Given the description of an element on the screen output the (x, y) to click on. 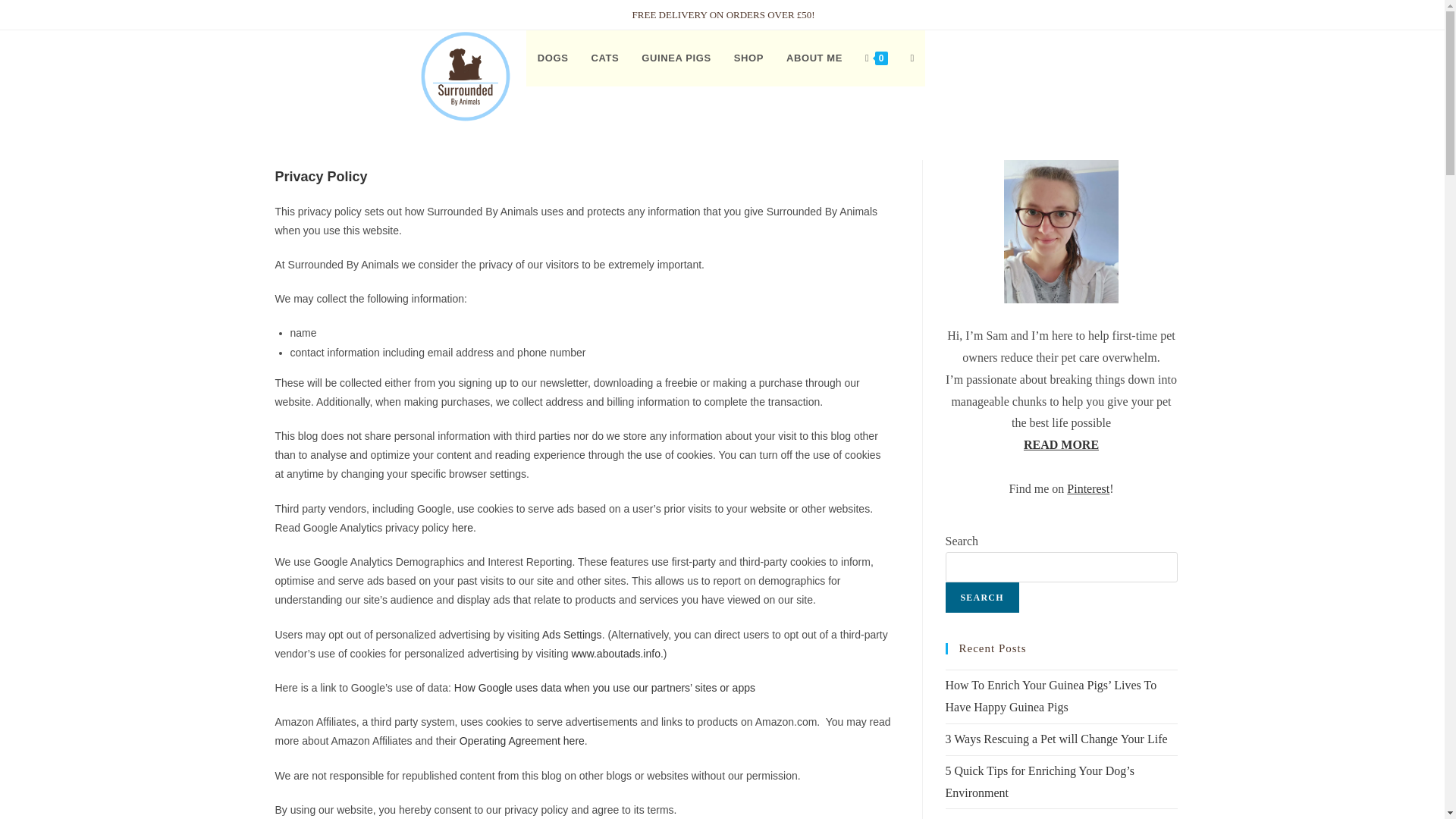
Operating Agreement here (522, 740)
SHOP (748, 58)
DOGS (552, 58)
3 Ways Rescuing a Pet will Change Your Life (1055, 738)
Ads Settings (571, 634)
Pinterest (1088, 488)
CATS (604, 58)
GUINEA PIGS (676, 58)
ABOUT ME (813, 58)
READ MORE (1061, 444)
SEARCH (980, 597)
www.aboutads.info (615, 653)
here (462, 527)
